Given the description of an element on the screen output the (x, y) to click on. 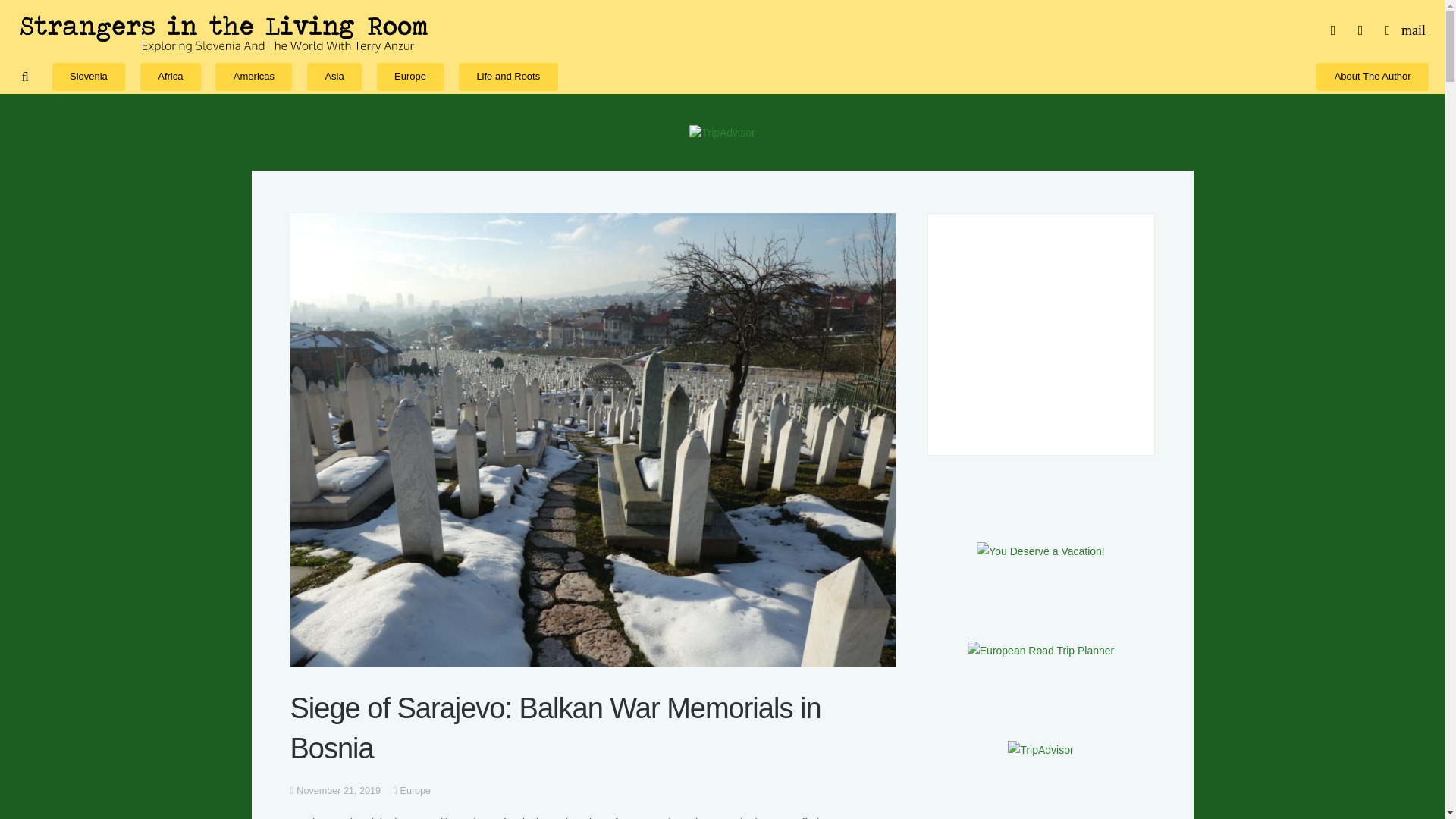
Slovenia (88, 76)
About The Author (1372, 76)
Asia (334, 76)
Europe (415, 790)
Africa (169, 76)
Europe (410, 76)
Life and Roots (507, 76)
Americas (253, 76)
